Given the description of an element on the screen output the (x, y) to click on. 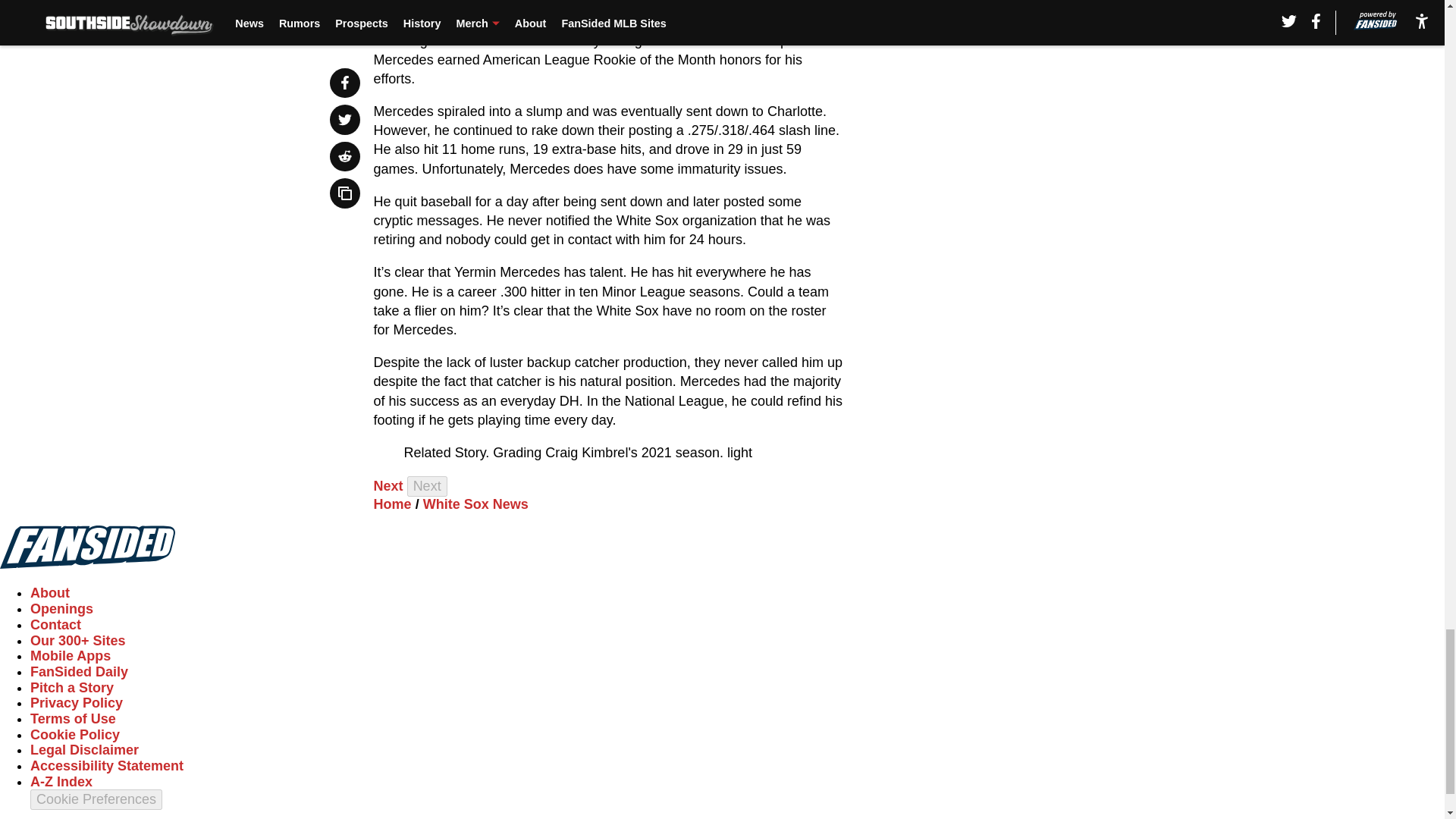
Home (393, 503)
Next (388, 485)
Next (426, 485)
